Given the description of an element on the screen output the (x, y) to click on. 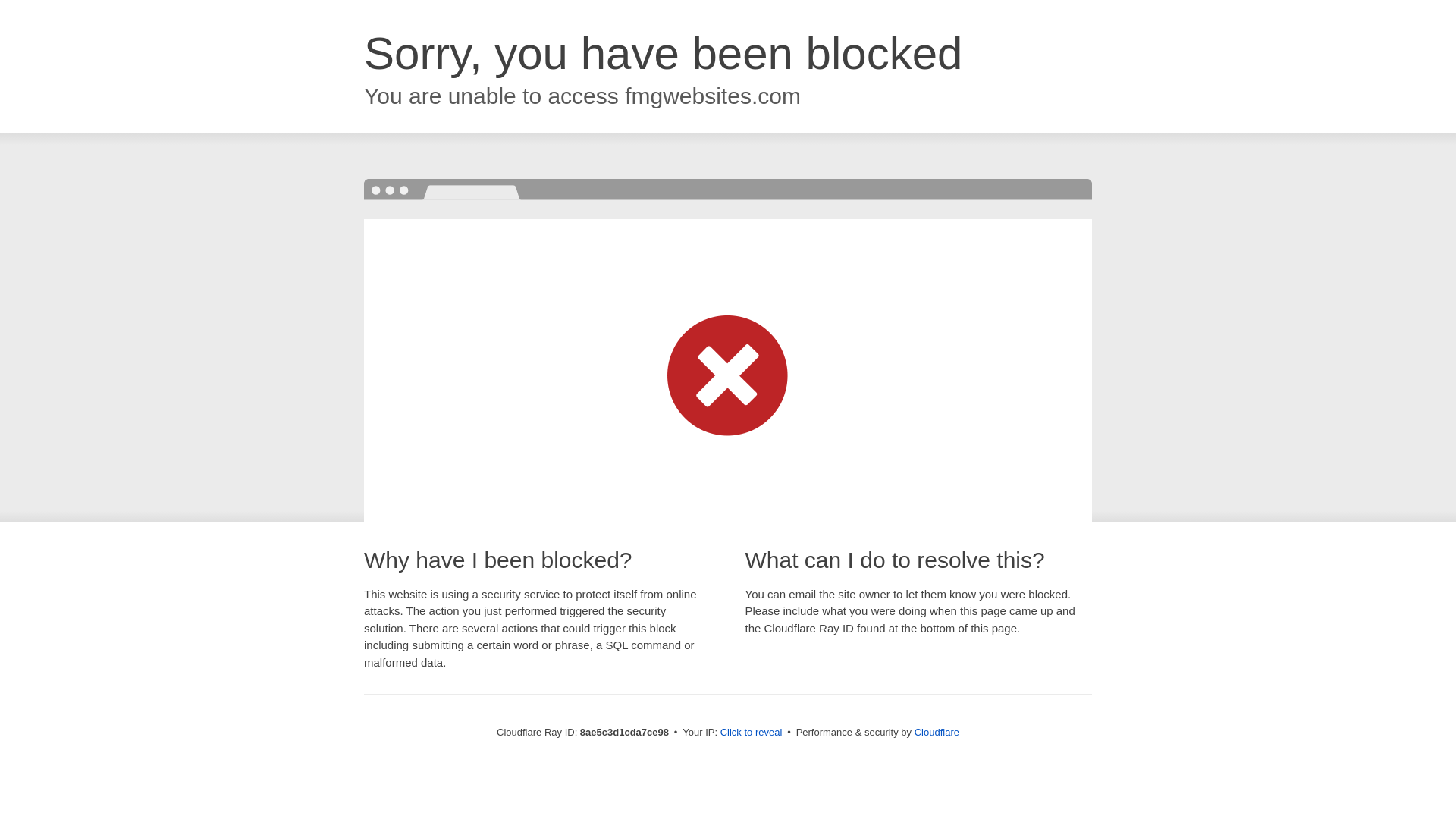
Cloudflare (936, 731)
Click to reveal (751, 732)
